Given the description of an element on the screen output the (x, y) to click on. 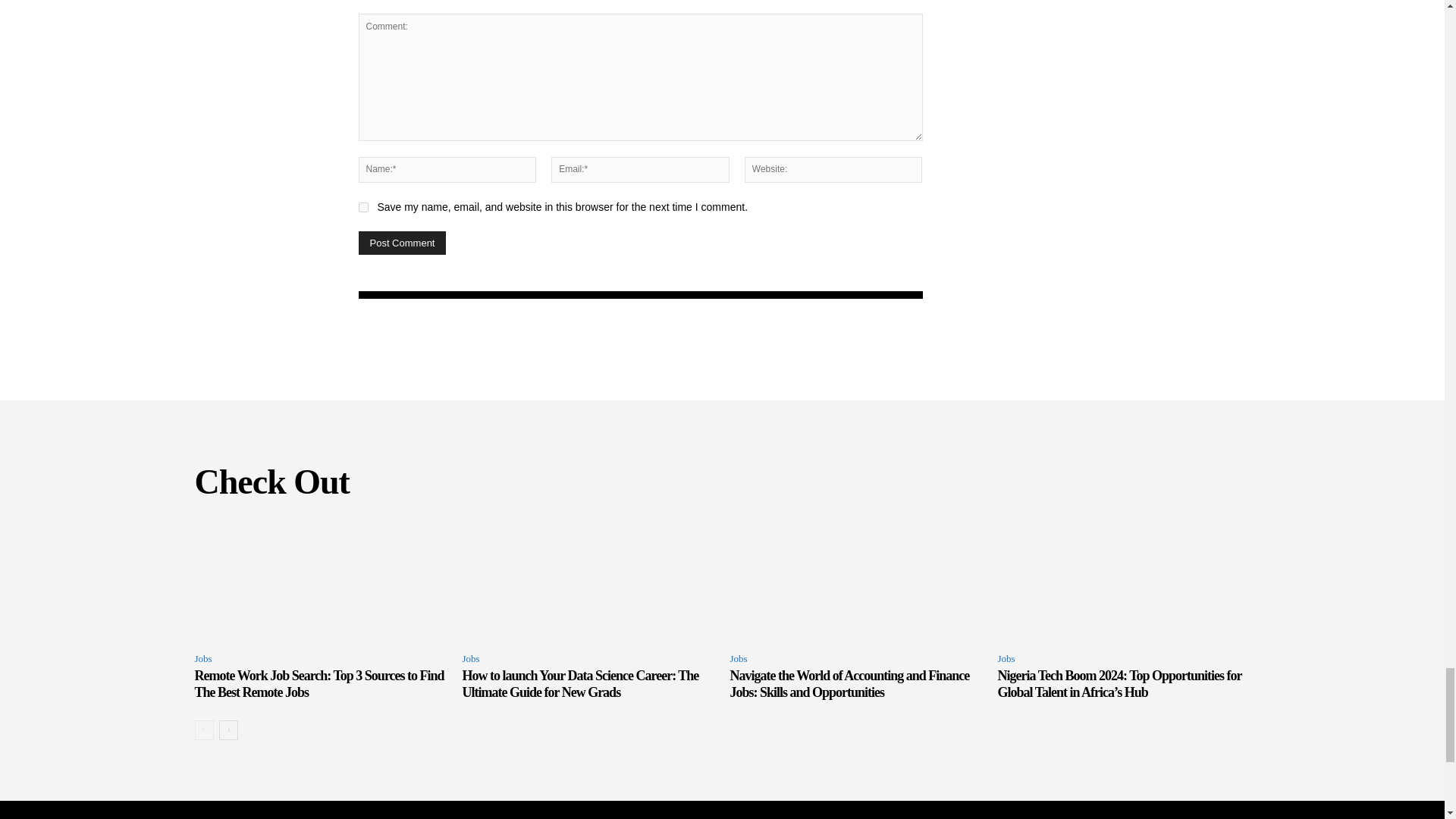
Post Comment (401, 242)
yes (363, 207)
Post Comment (401, 242)
